Given the description of an element on the screen output the (x, y) to click on. 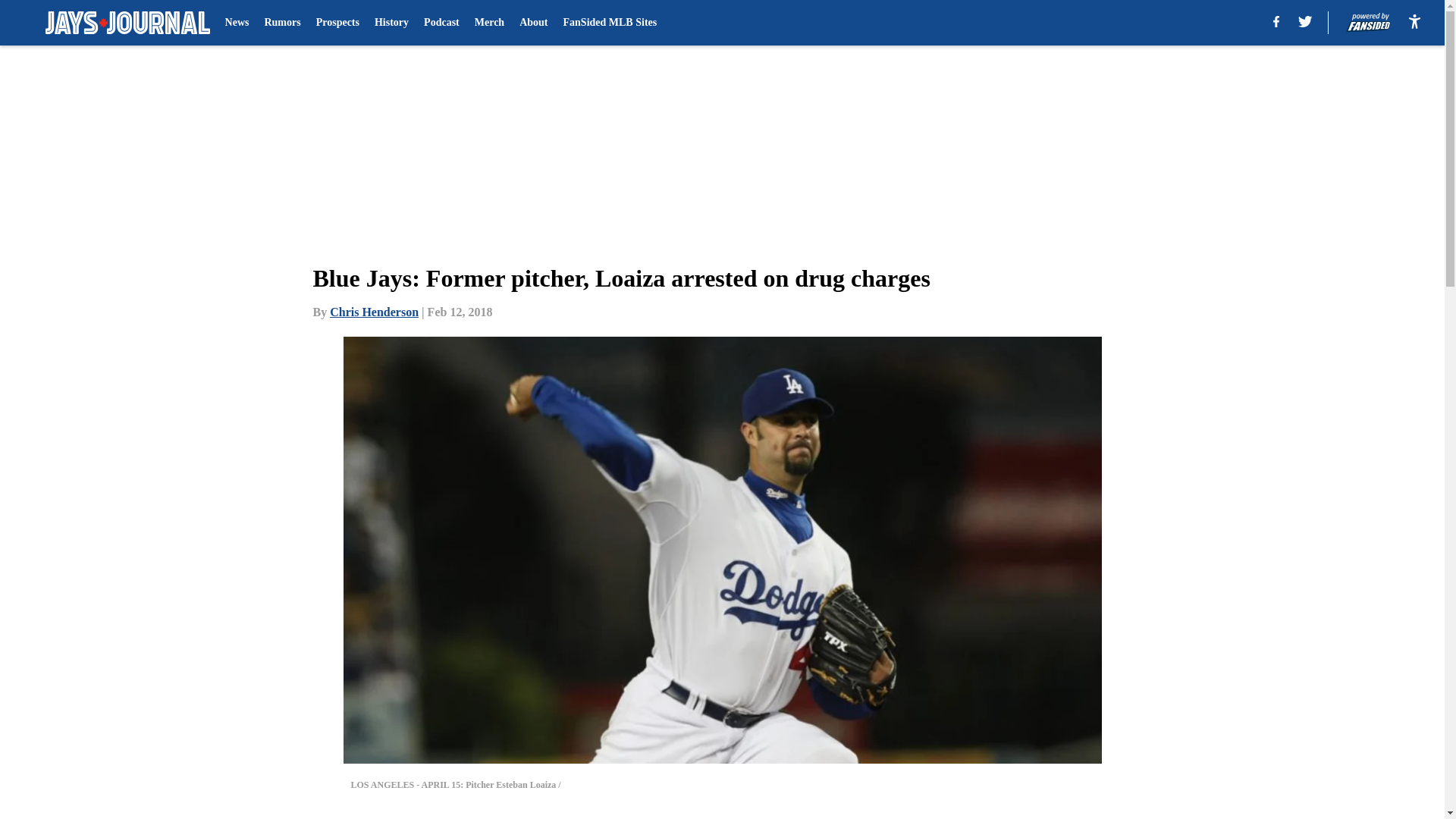
Podcast (441, 22)
News (236, 22)
Chris Henderson (374, 311)
Prospects (337, 22)
About (533, 22)
Merch (488, 22)
FanSided MLB Sites (610, 22)
Rumors (281, 22)
History (391, 22)
